Given the description of an element on the screen output the (x, y) to click on. 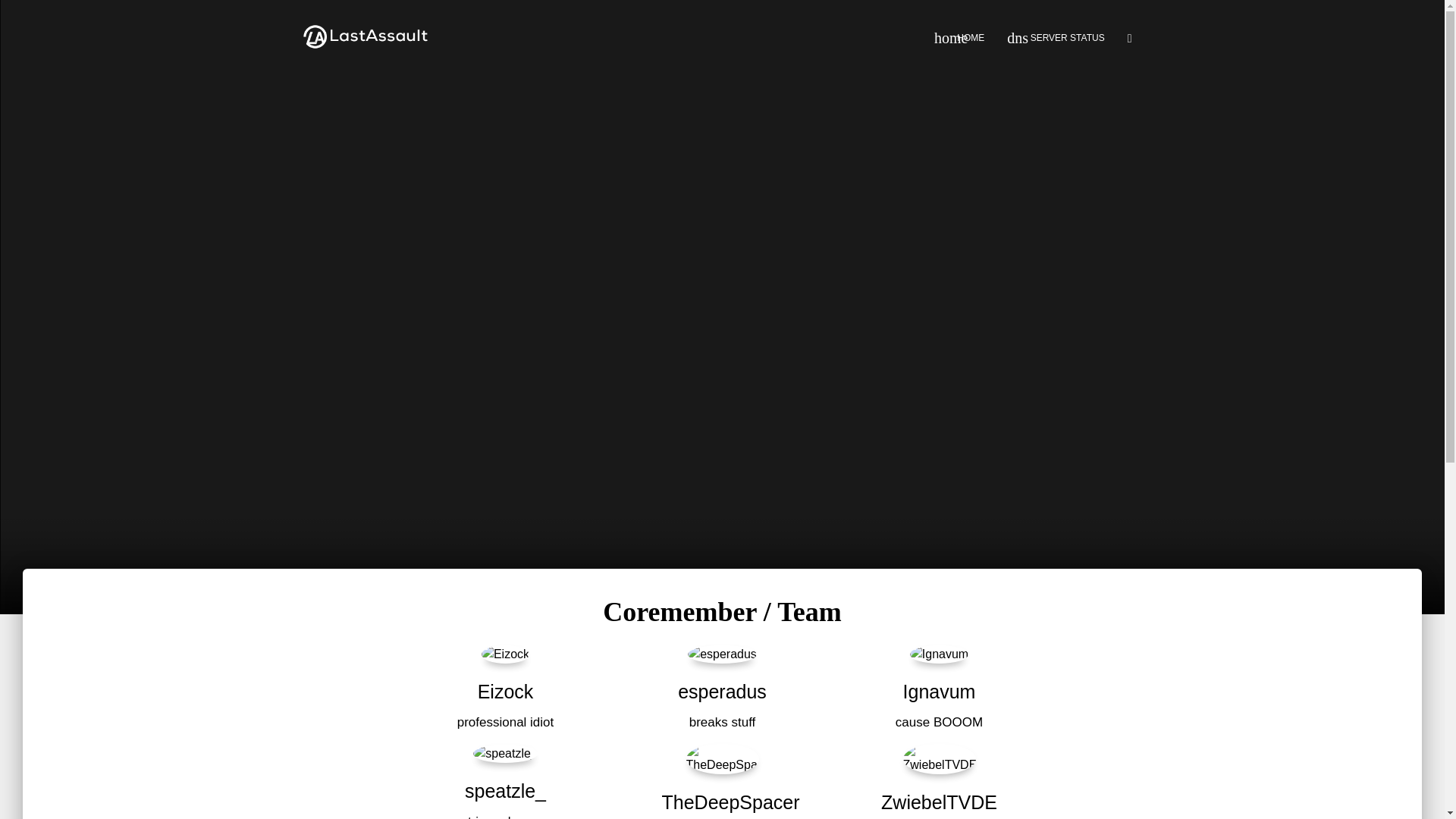
home HOME (959, 37)
dns SERVER STATUS (1055, 37)
